Given the description of an element on the screen output the (x, y) to click on. 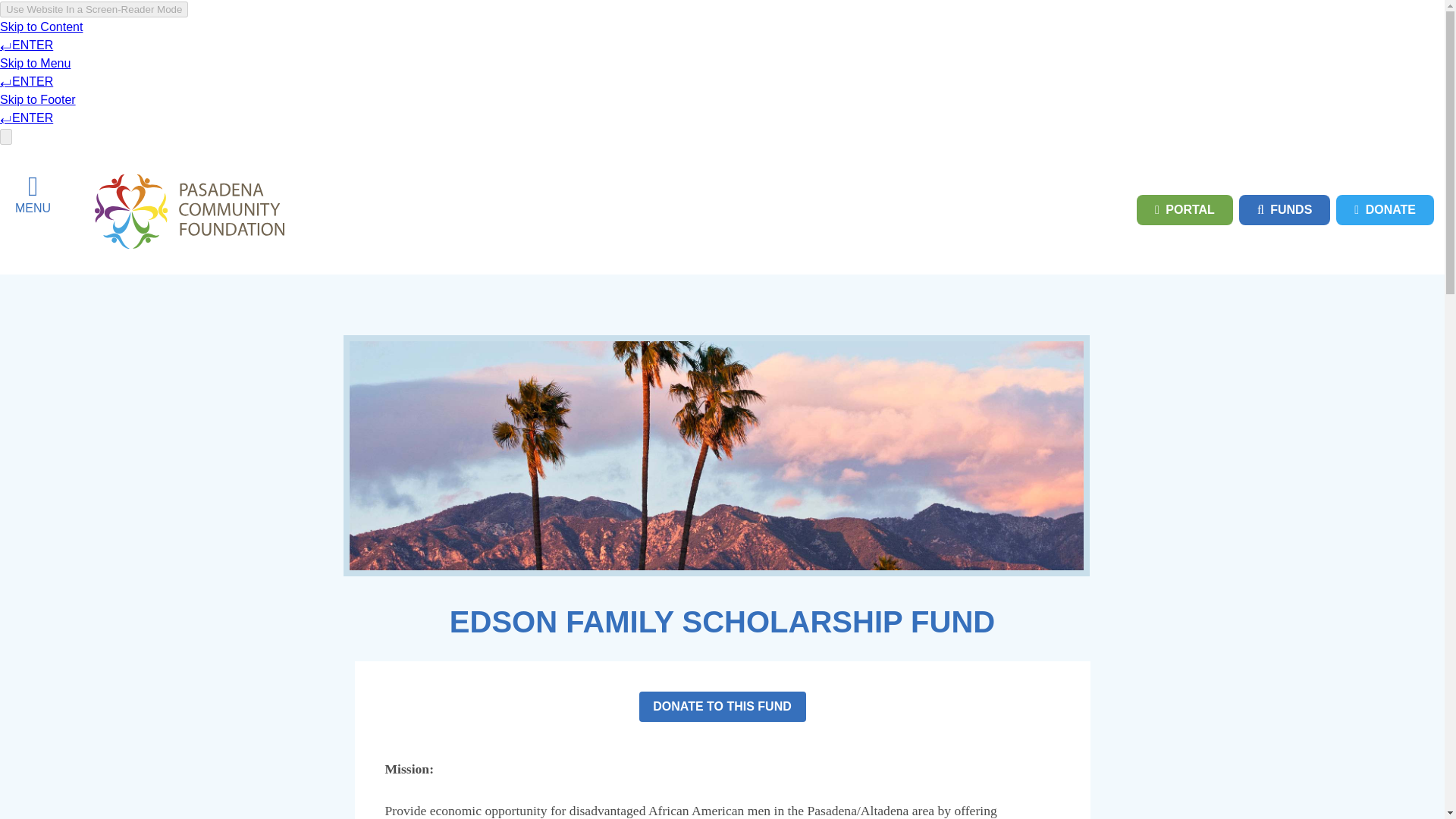
DONATE (1385, 209)
FUNDS (1284, 209)
PORTAL (1185, 209)
Donate To This Fund (722, 706)
DONATE TO THIS FUND (722, 706)
